Given the description of an element on the screen output the (x, y) to click on. 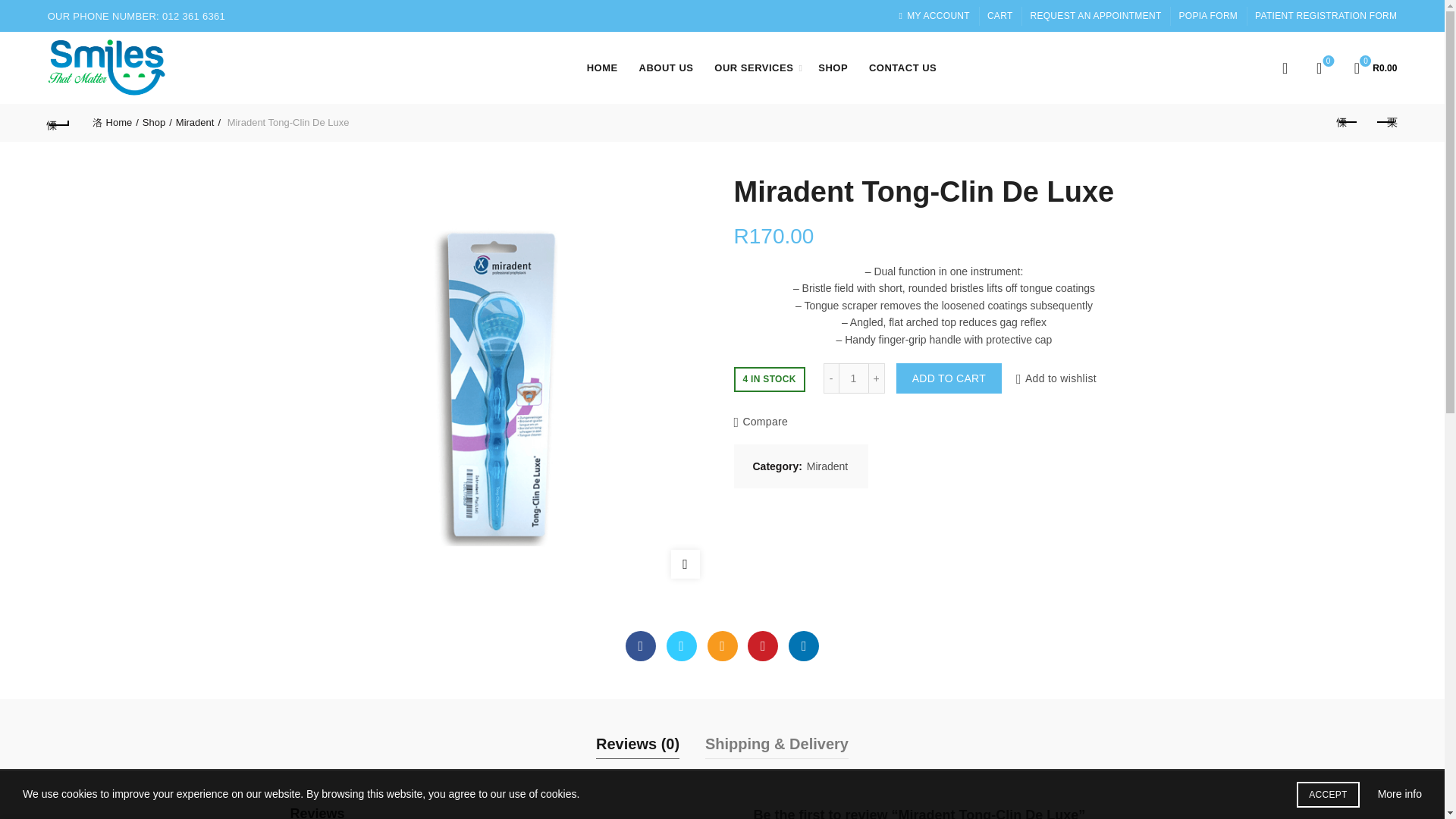
CART (1000, 15)
POPIA FORM (1207, 15)
ABOUT US (665, 67)
MY ACCOUNT (933, 15)
REQUEST AN APPOINTMENT (1094, 15)
1 (853, 378)
PATIENT REGISTRATION FORM (1325, 15)
HOME (601, 67)
Qty (853, 378)
OUR SERVICES (753, 67)
